Given the description of an element on the screen output the (x, y) to click on. 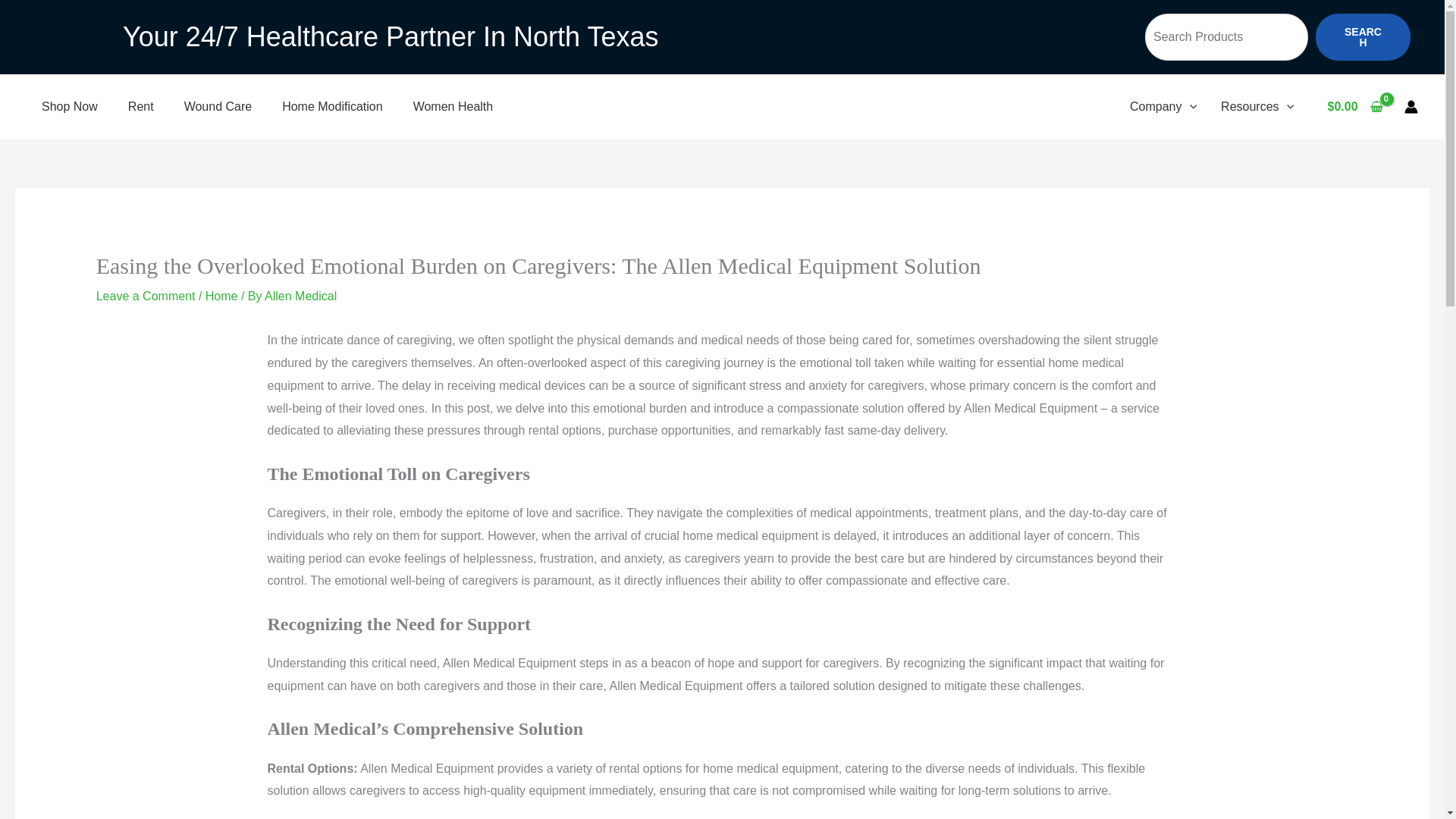
Home (221, 295)
Wound Care (217, 106)
Leave a Comment (145, 295)
Resources (1257, 106)
View all posts by Allen Medical (300, 295)
SEARCH (1363, 36)
Women Health (452, 106)
Allen Medical (300, 295)
Shop Now (69, 106)
Company (1163, 106)
